Given the description of an element on the screen output the (x, y) to click on. 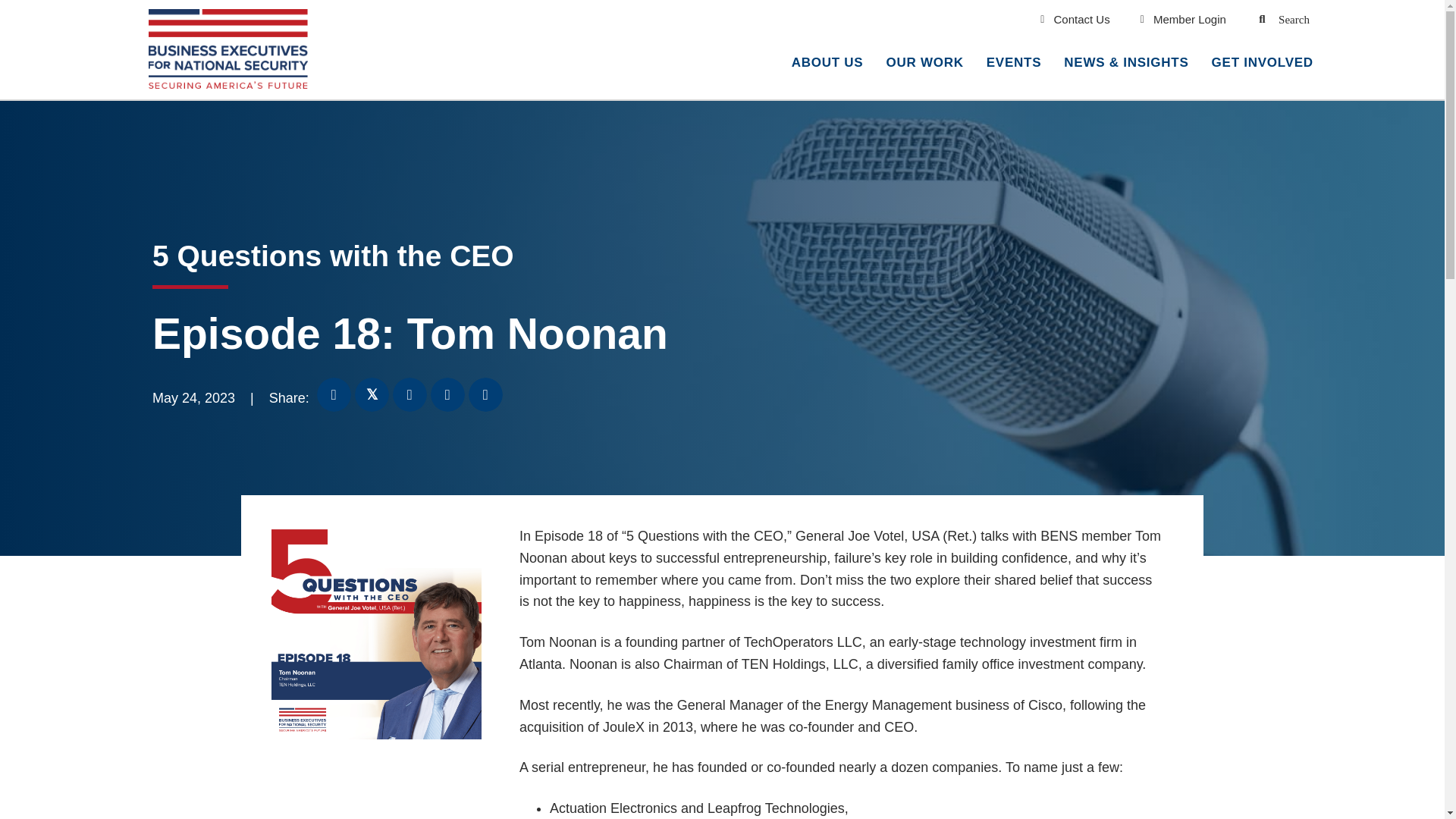
BENS Logo (227, 48)
Contact Us (1075, 19)
OUR WORK (924, 64)
ABOUT US (827, 64)
GET INVOLVED (1261, 64)
Five Questions With The CEO Tom Noonan Instagram Post V4 (375, 634)
Member Login (1182, 19)
EVENTS (1013, 64)
